Given the description of an element on the screen output the (x, y) to click on. 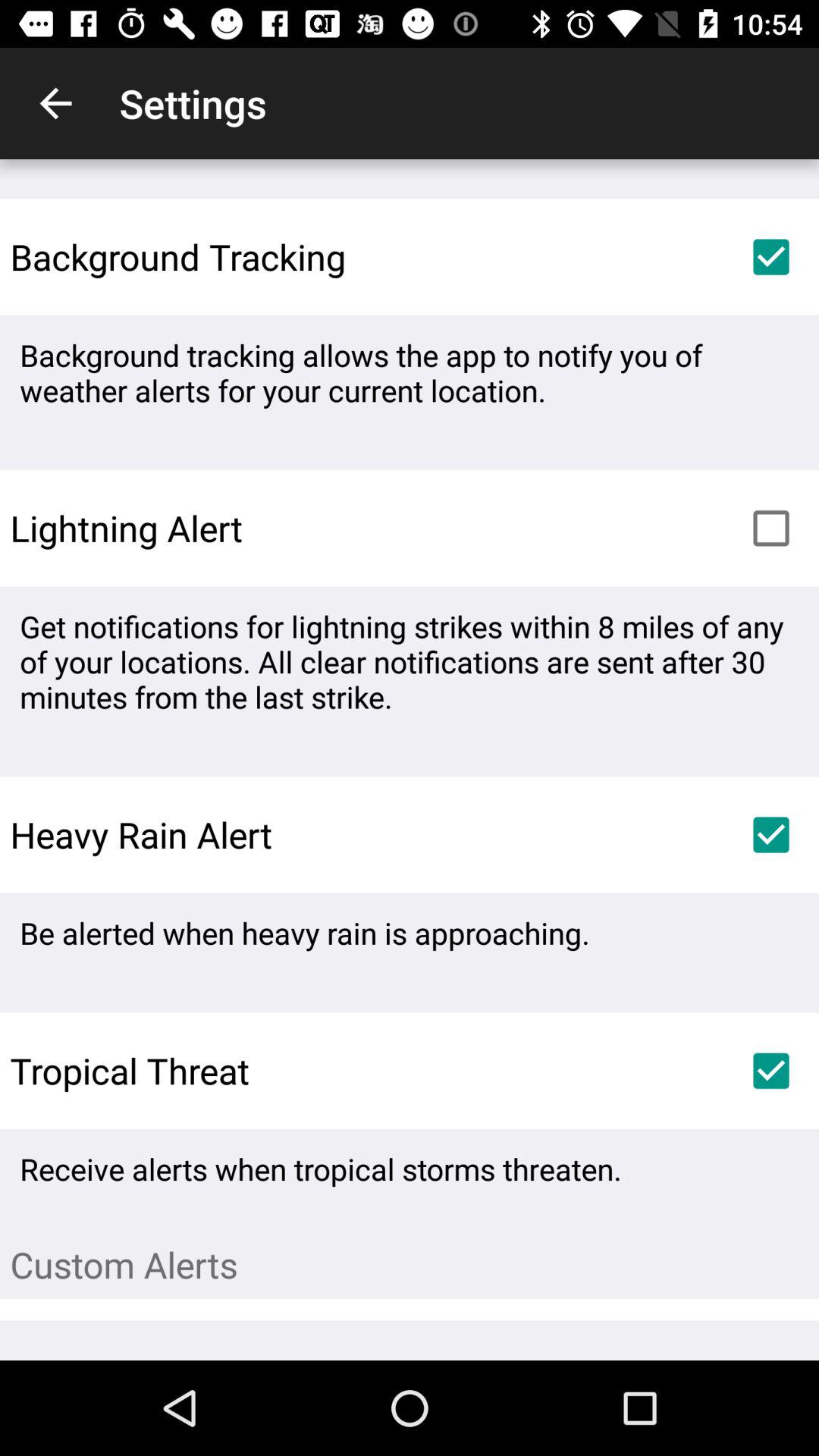
tap the item above get notifications for item (771, 528)
